Given the description of an element on the screen output the (x, y) to click on. 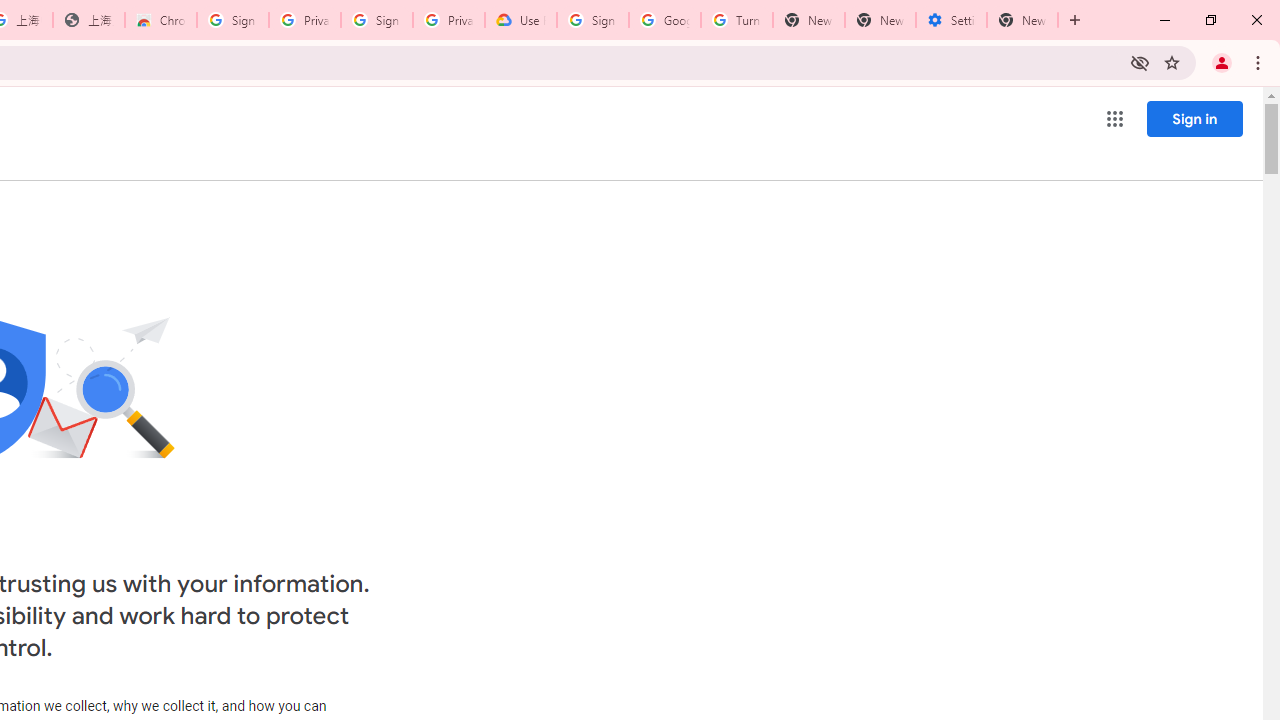
Chrome Web Store - Color themes by Chrome (161, 20)
Settings - System (951, 20)
